Given the description of an element on the screen output the (x, y) to click on. 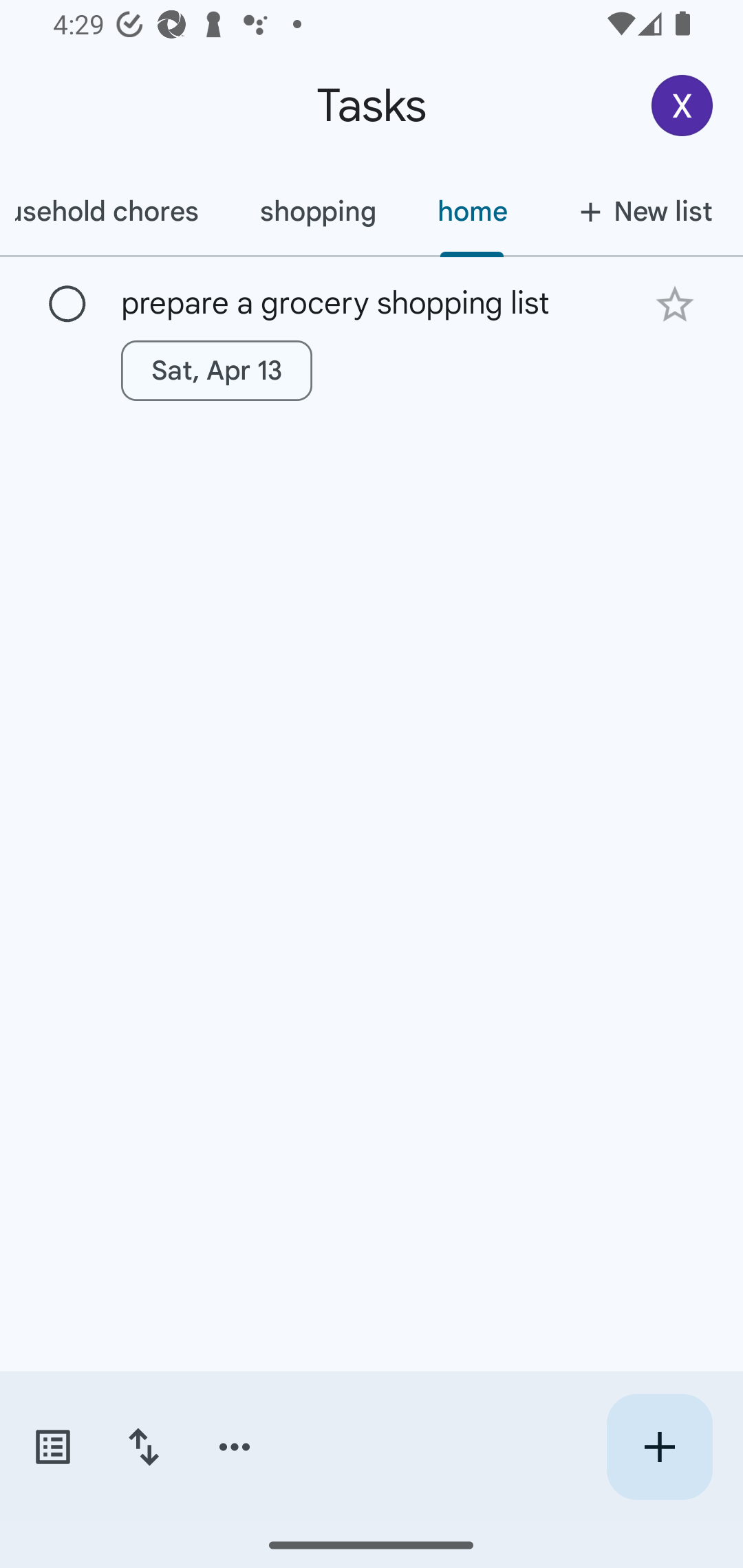
household chores (114, 211)
shopping (317, 211)
New list (640, 211)
Add star (674, 303)
Mark as complete (67, 304)
Sat, Apr 13 (216, 369)
Switch task lists (52, 1447)
Create new task (659, 1446)
Change sort order (143, 1446)
More options (234, 1446)
